Given the description of an element on the screen output the (x, y) to click on. 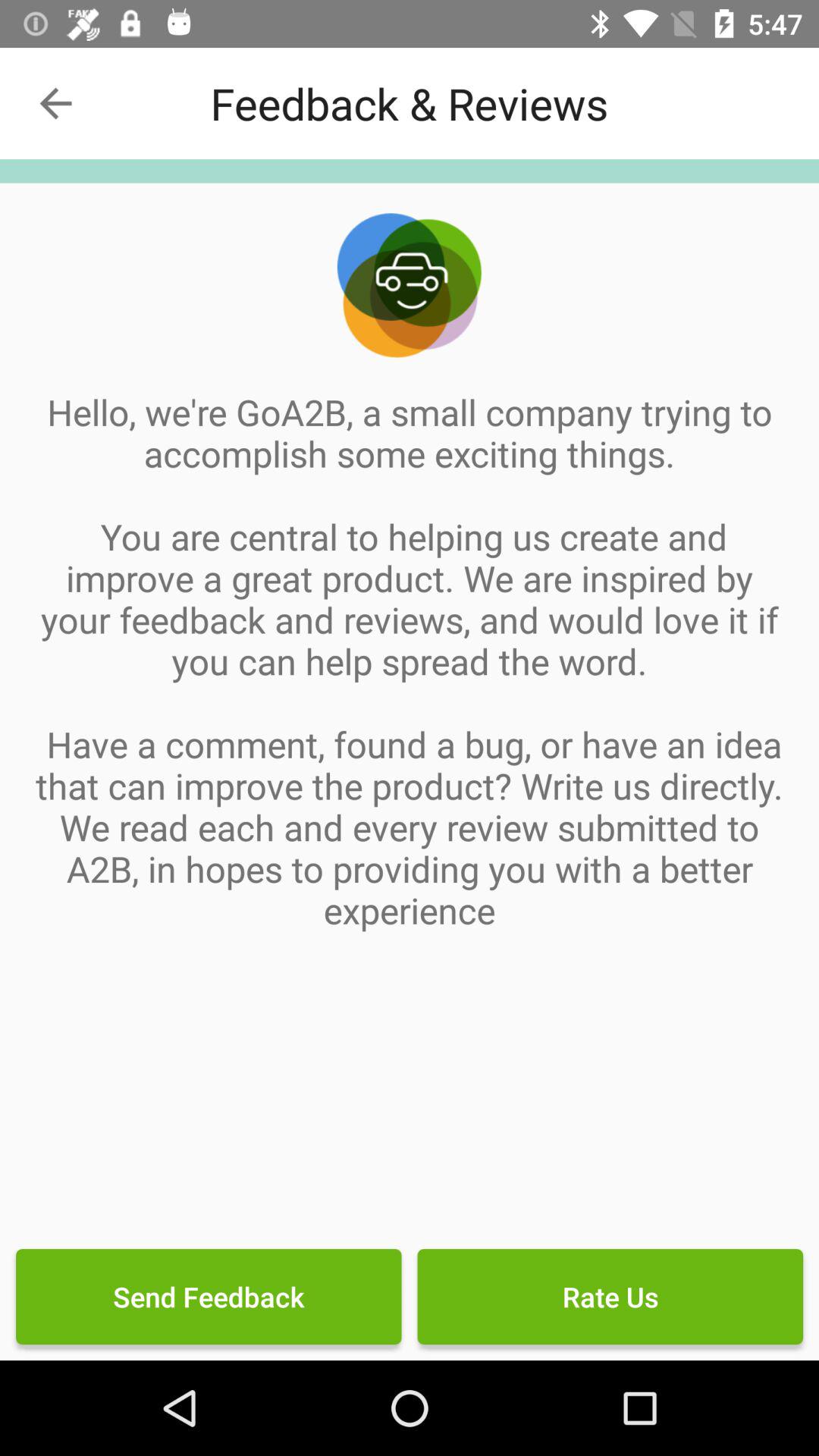
turn on item at the bottom right corner (610, 1296)
